Given the description of an element on the screen output the (x, y) to click on. 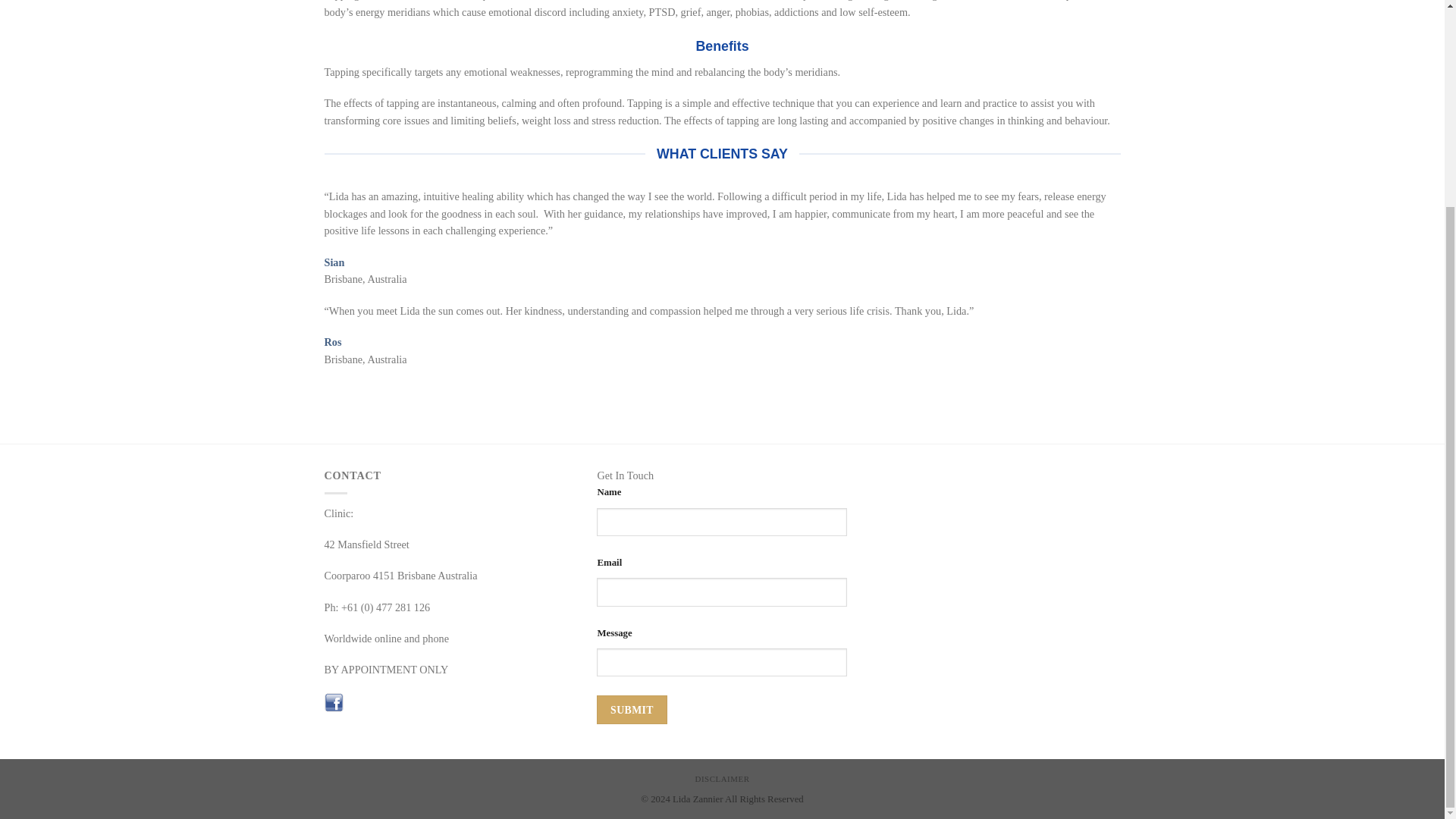
Submit (631, 709)
